Given the description of an element on the screen output the (x, y) to click on. 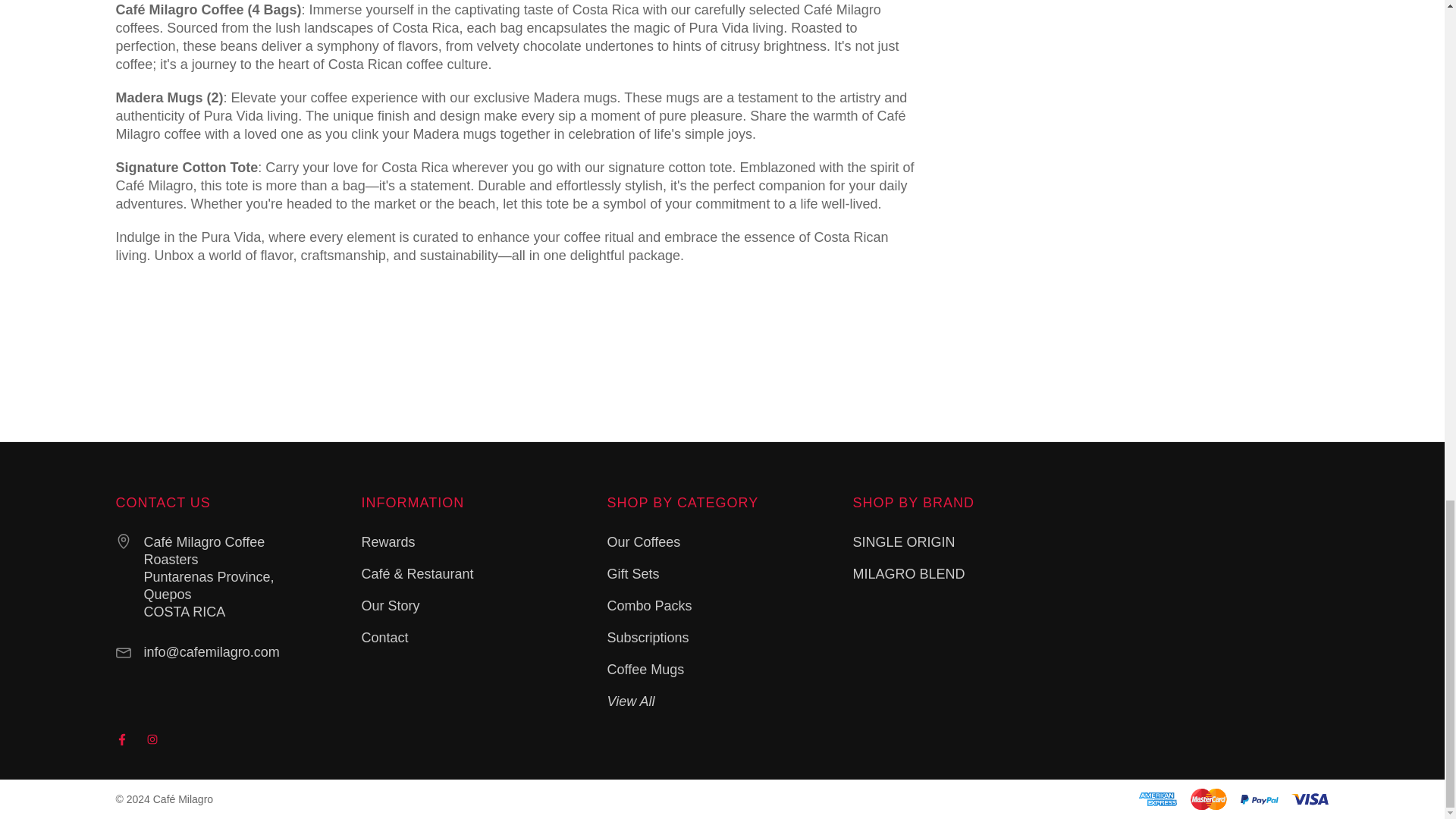
Facebook (121, 739)
Instagram (152, 738)
